Given the description of an element on the screen output the (x, y) to click on. 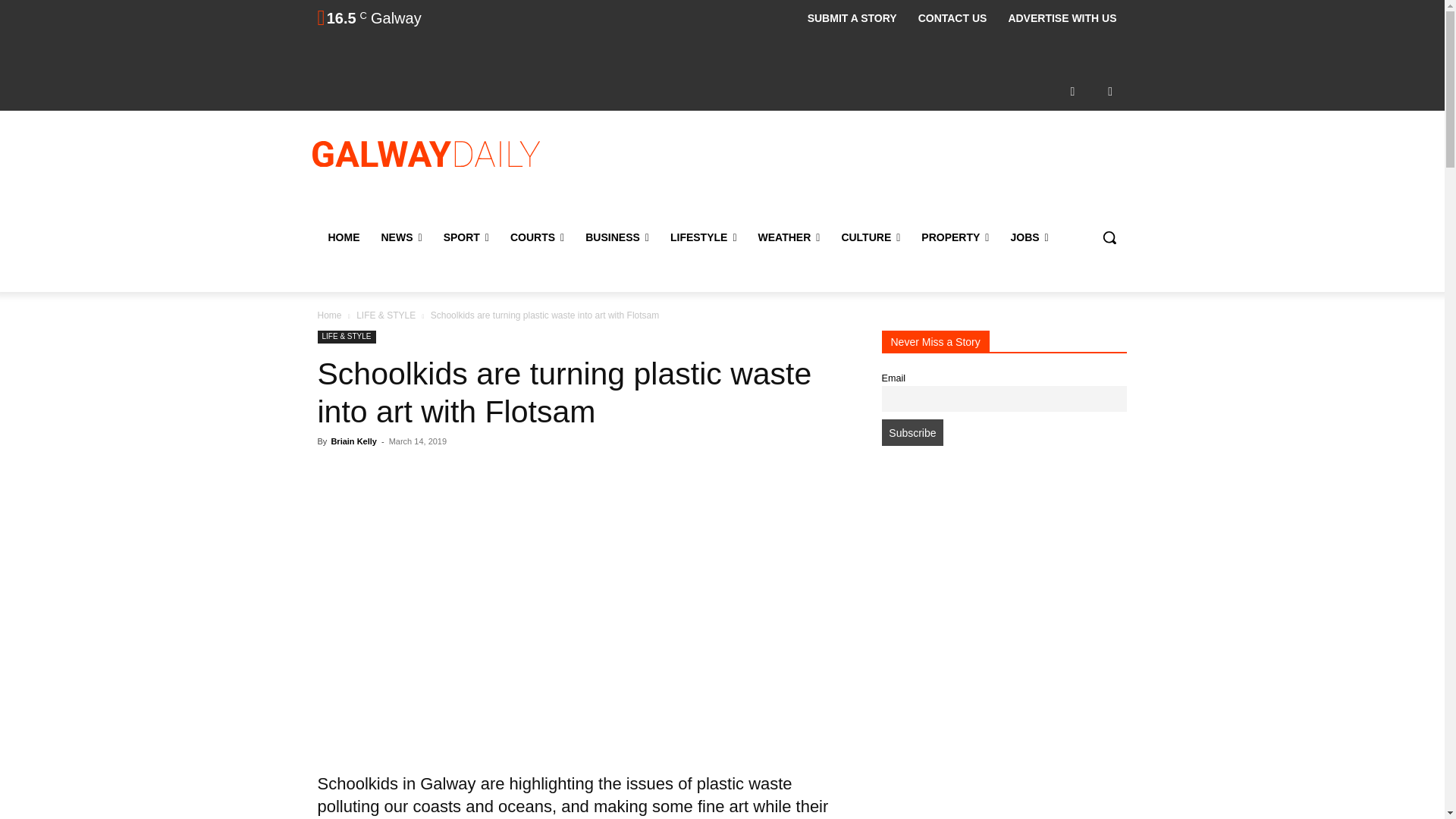
Subscribe (911, 432)
Twitter (1109, 91)
Facebook (1072, 91)
Advertisement (846, 172)
